Given the description of an element on the screen output the (x, y) to click on. 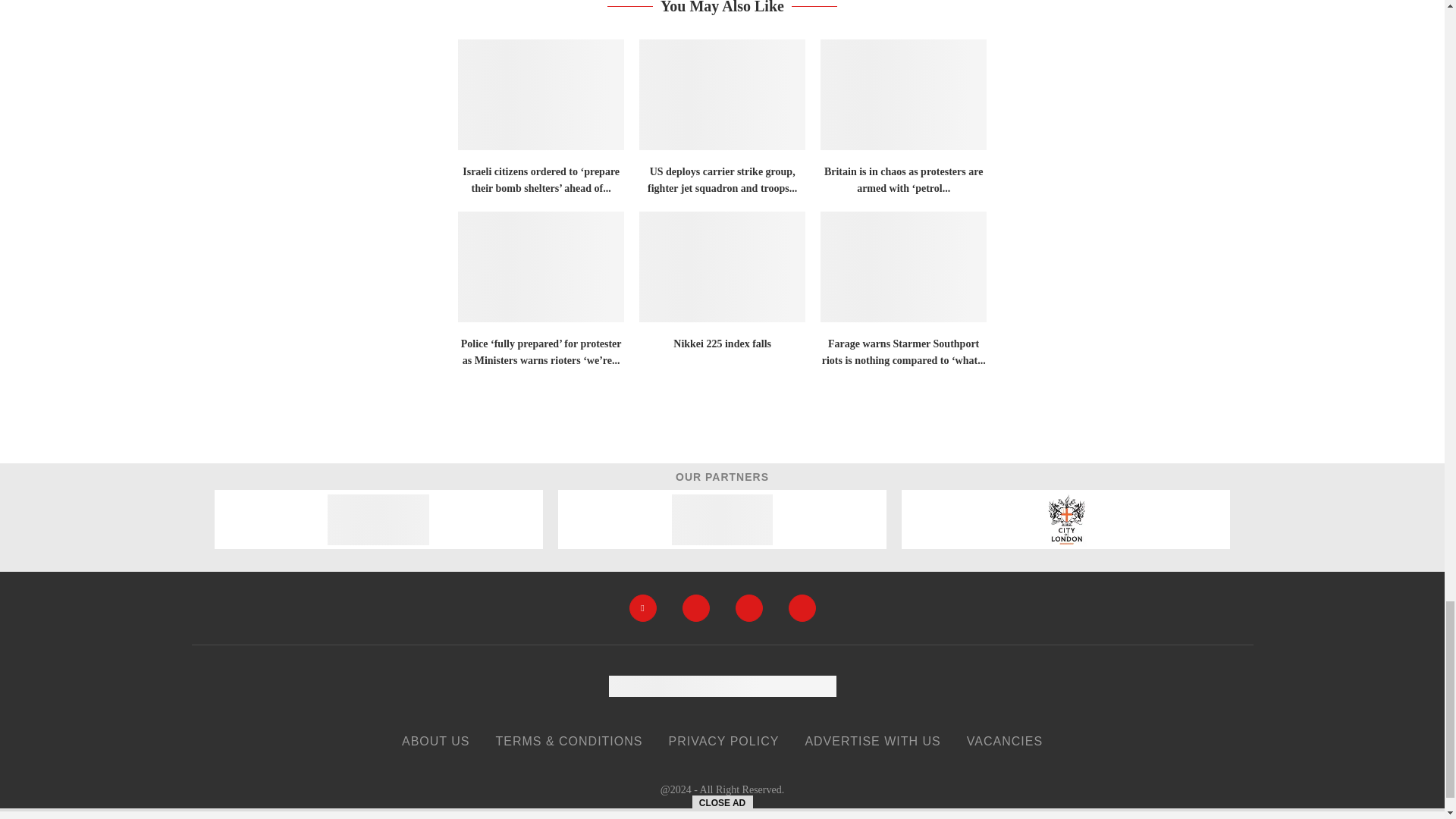
Nikkei 225 index falls (722, 266)
